Given the description of an element on the screen output the (x, y) to click on. 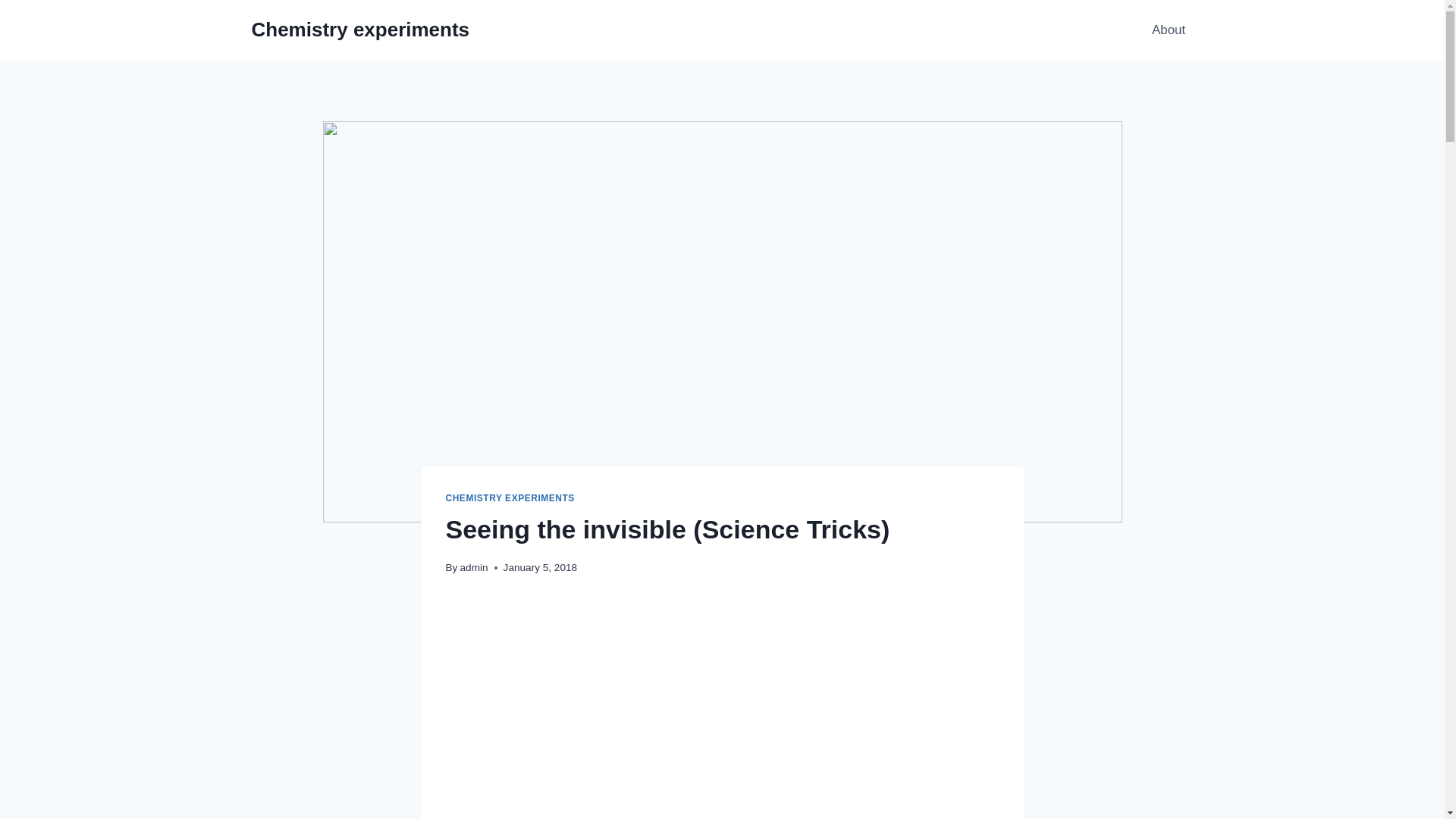
CHEMISTRY EXPERIMENTS (510, 498)
About (1168, 30)
Chemistry experiments (360, 29)
admin (473, 567)
